Given the description of an element on the screen output the (x, y) to click on. 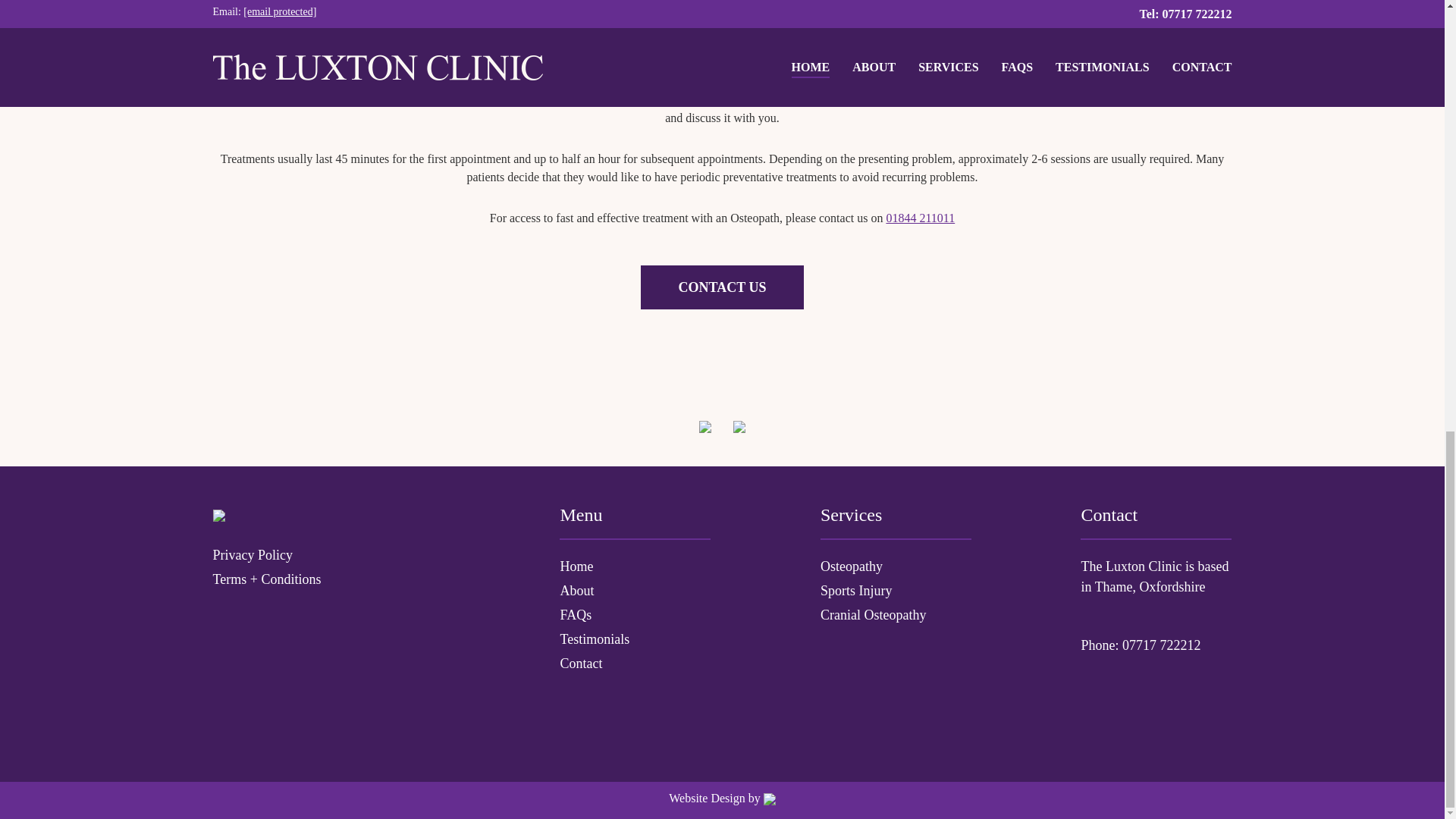
Contact (634, 663)
FAQs (634, 615)
Osteopathy (896, 566)
Home (634, 566)
Website Design by (721, 798)
Testimonials (634, 639)
Cranial Osteopathy (896, 615)
CONTACT US (722, 287)
Privacy Policy (330, 555)
About (634, 590)
